Given the description of an element on the screen output the (x, y) to click on. 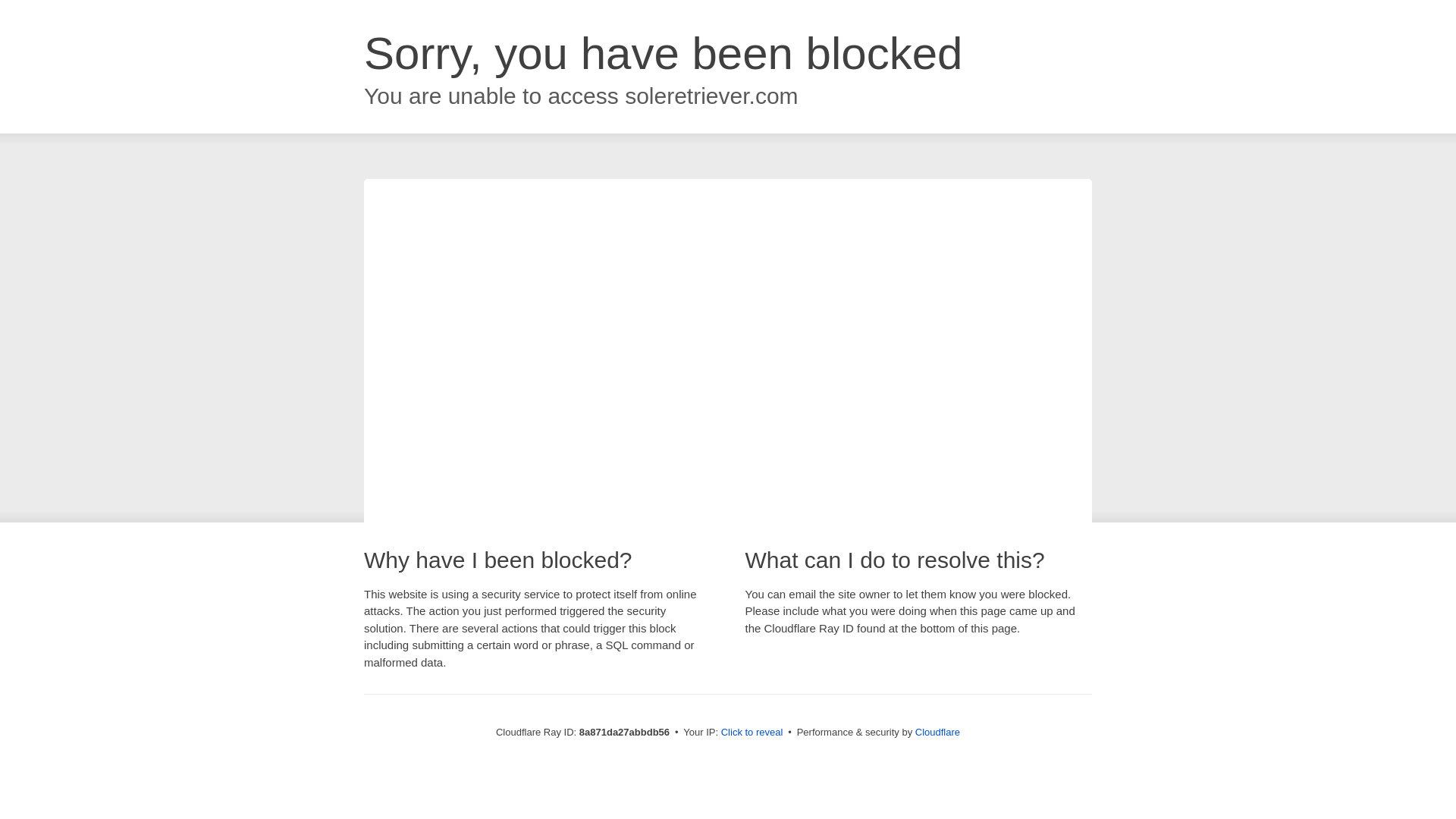
Click to reveal (751, 732)
Cloudflare (937, 731)
